Given the description of an element on the screen output the (x, y) to click on. 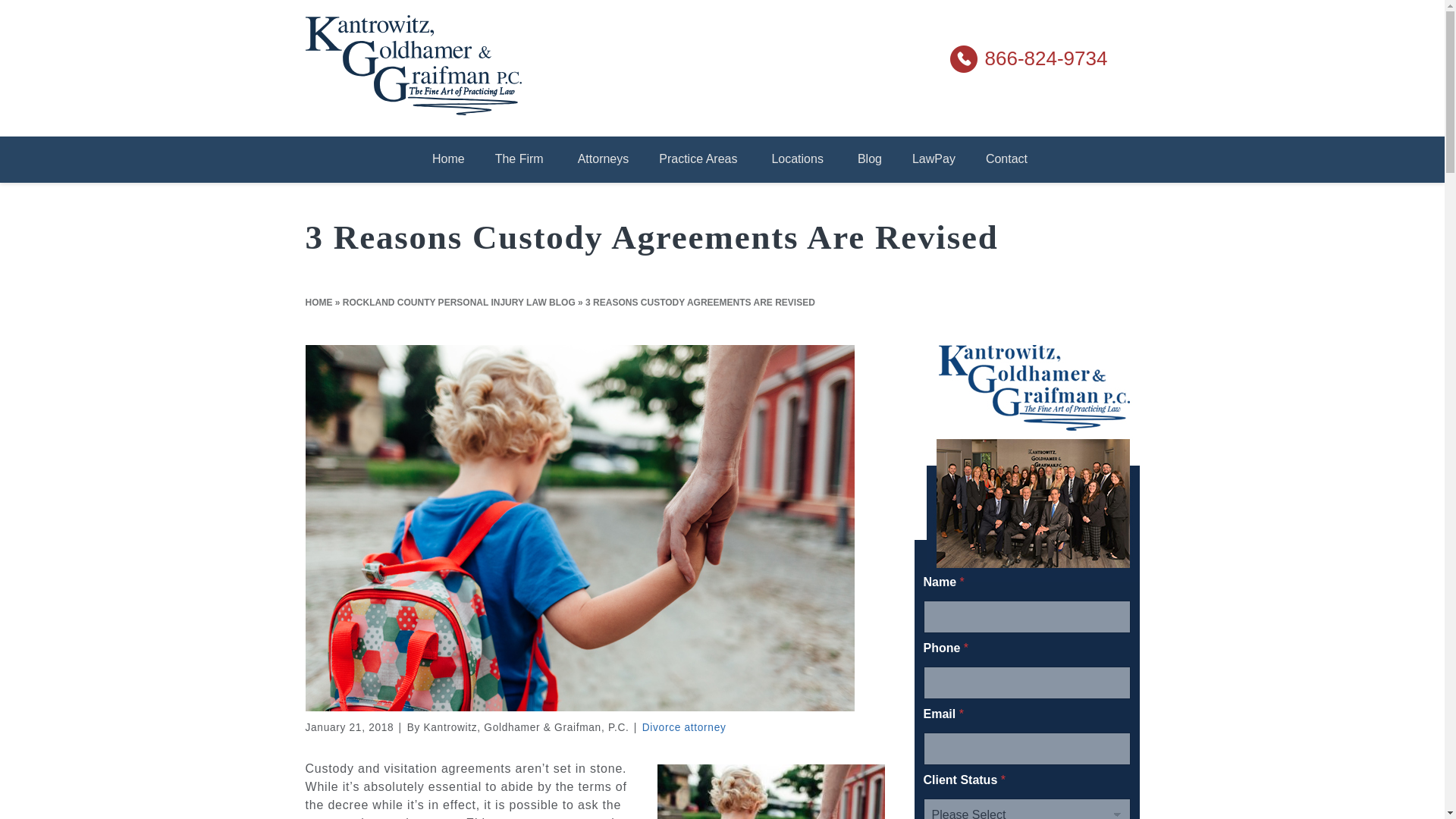
Attorneys (603, 159)
Practice Areas (699, 159)
The Firm (521, 159)
Home (448, 159)
